Given the description of an element on the screen output the (x, y) to click on. 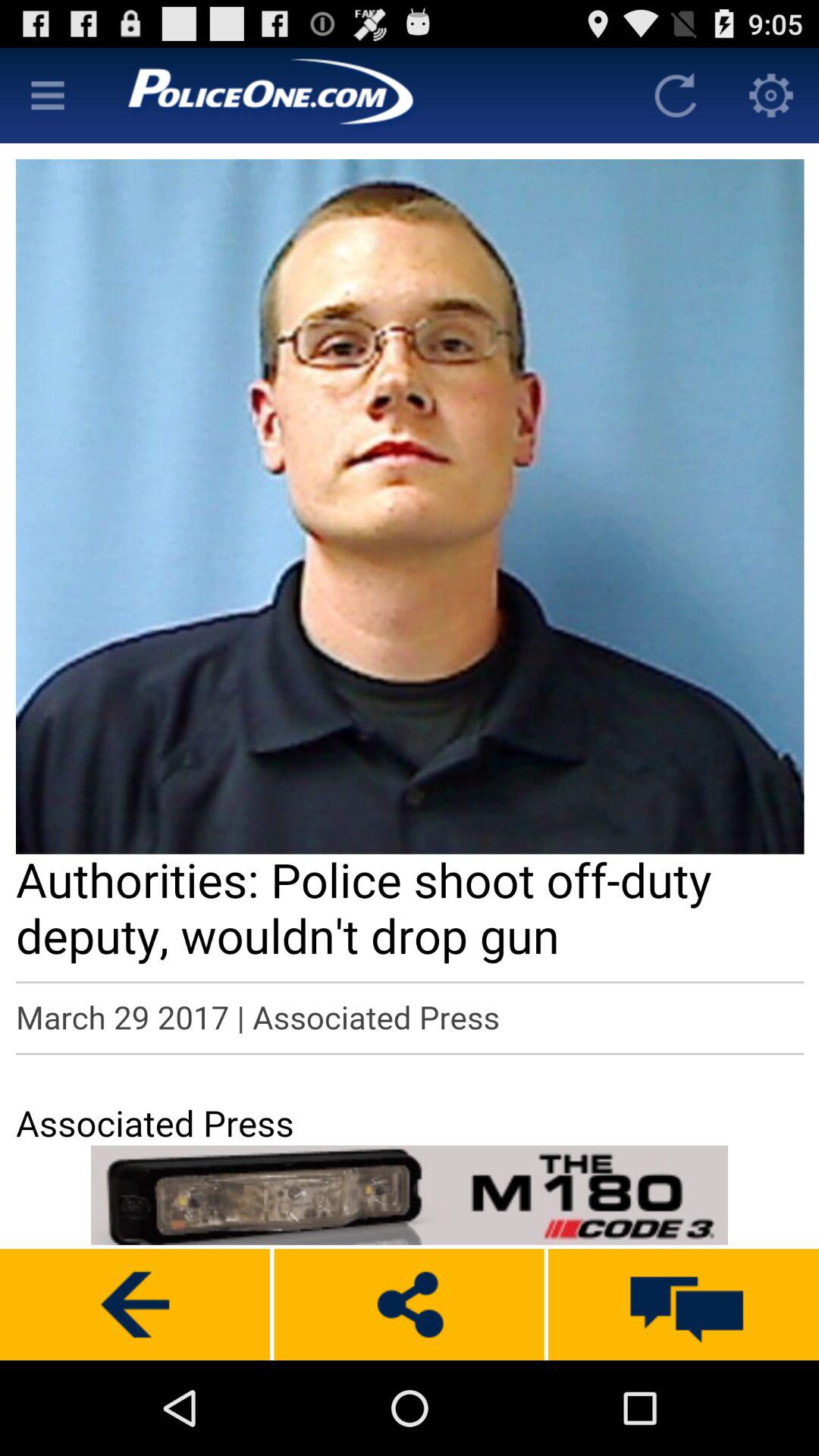
click main article (409, 642)
